Given the description of an element on the screen output the (x, y) to click on. 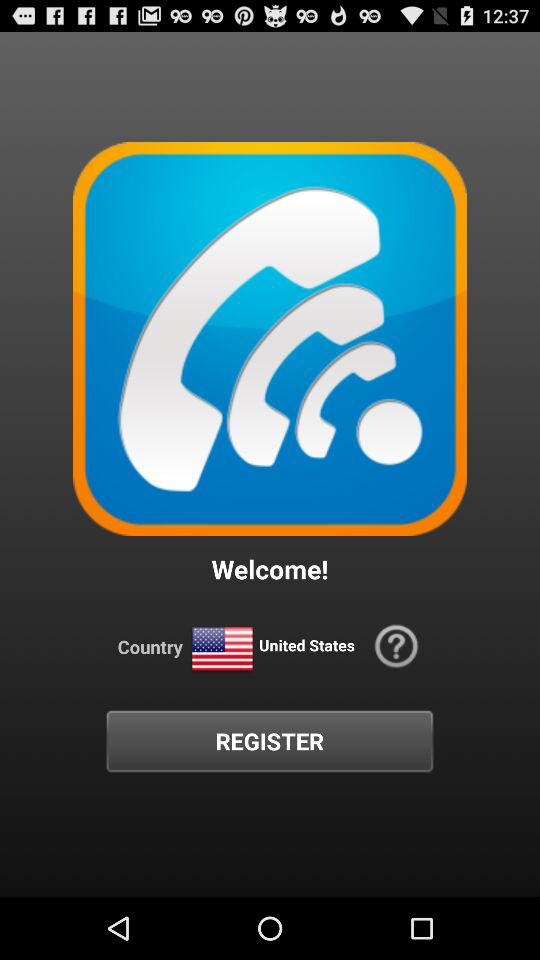
us user (221, 649)
